Given the description of an element on the screen output the (x, y) to click on. 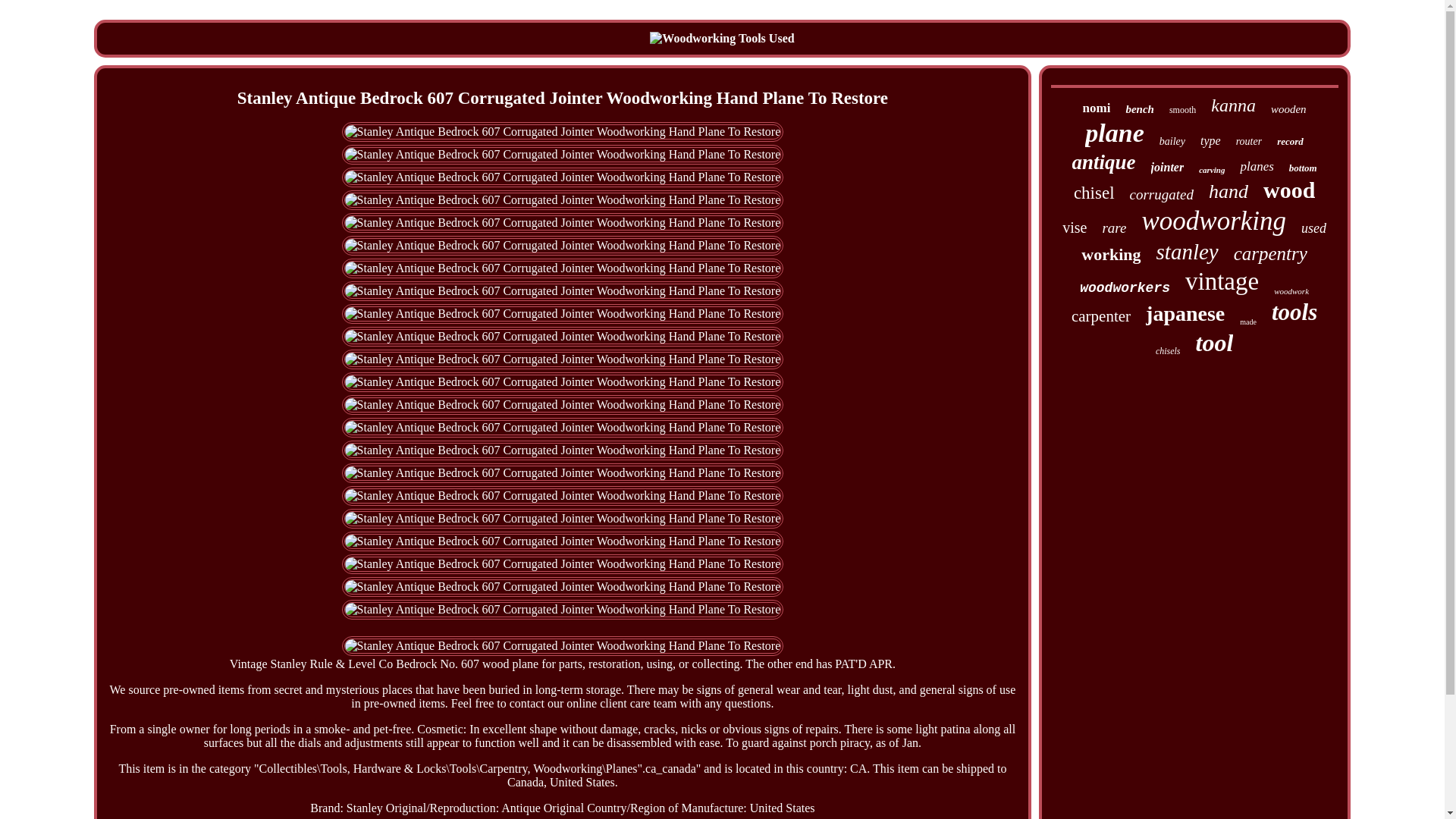
antique (1103, 162)
planes (1256, 166)
jointer (1168, 167)
woodworkers (1125, 287)
carpentry (1270, 253)
